Given the description of an element on the screen output the (x, y) to click on. 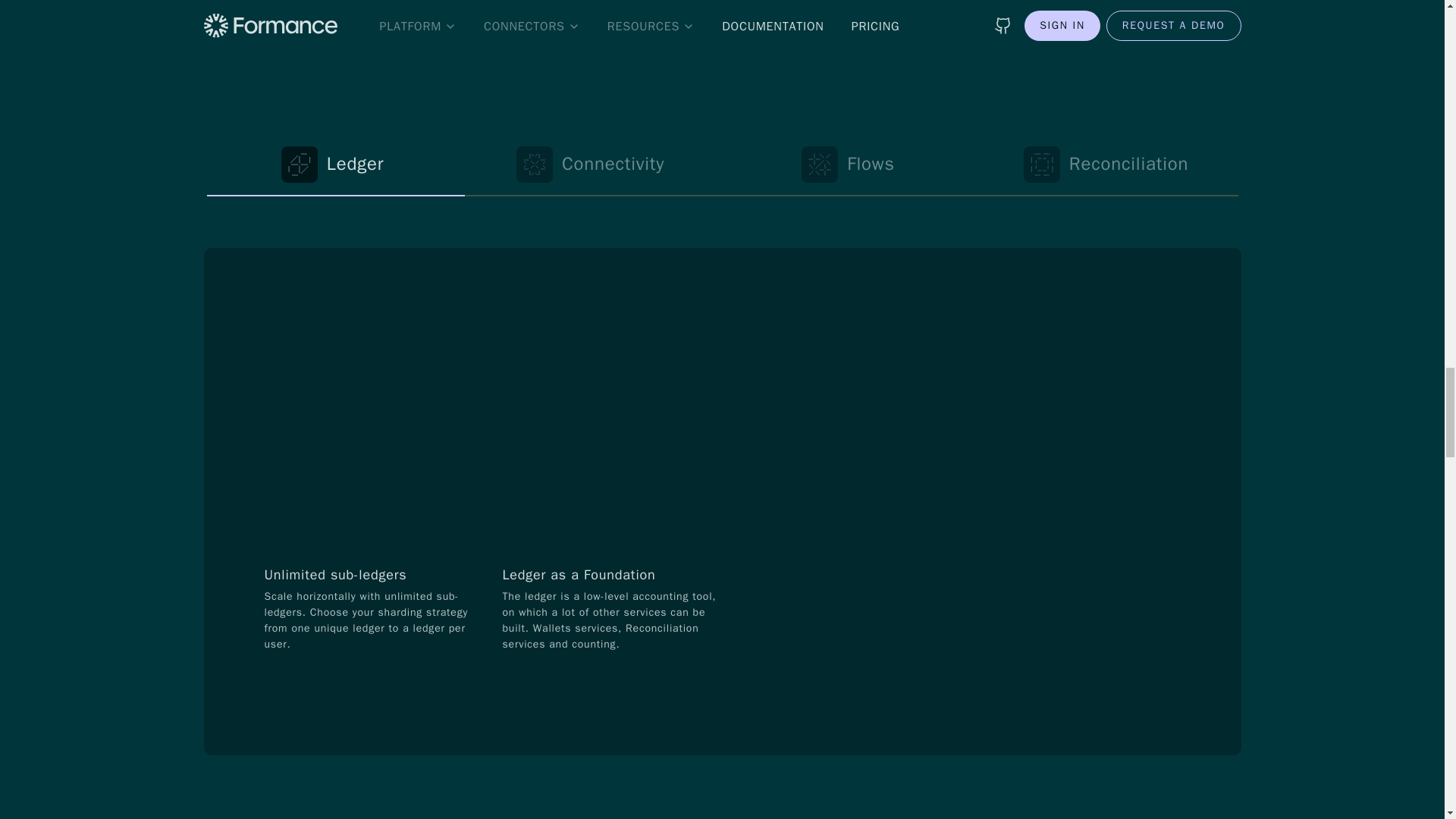
Connectivity (593, 165)
Flows (850, 165)
Reconciliation (1108, 165)
Ledger (335, 165)
